Given the description of an element on the screen output the (x, y) to click on. 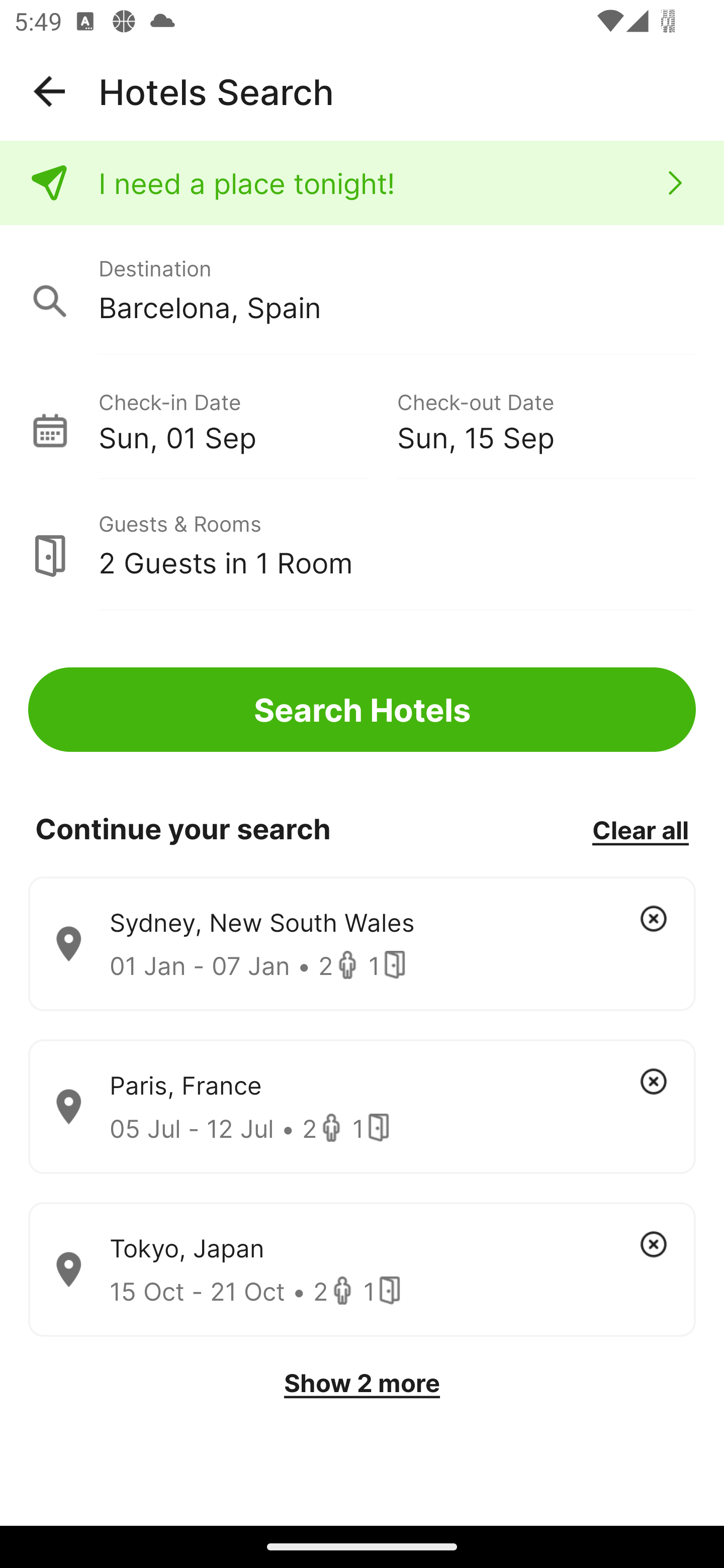
I need a place tonight! (362, 183)
Destination Barcelona, Spain (362, 290)
Check-in Date Sun, 01 Sep (247, 418)
Check-out Date Sun, 15 Sep (546, 418)
Guests & Rooms 2 Guests in 1 Room (362, 545)
Search Hotels (361, 709)
Clear all (640, 829)
Sydney, New South Wales 01 Jan - 07 Jan • 2  1  (361, 943)
Paris, France 05 Jul - 12 Jul • 2  1  (361, 1106)
Tokyo, Japan 15 Oct - 21 Oct • 2  1  (361, 1269)
Show 2 more (362, 1382)
